Given the description of an element on the screen output the (x, y) to click on. 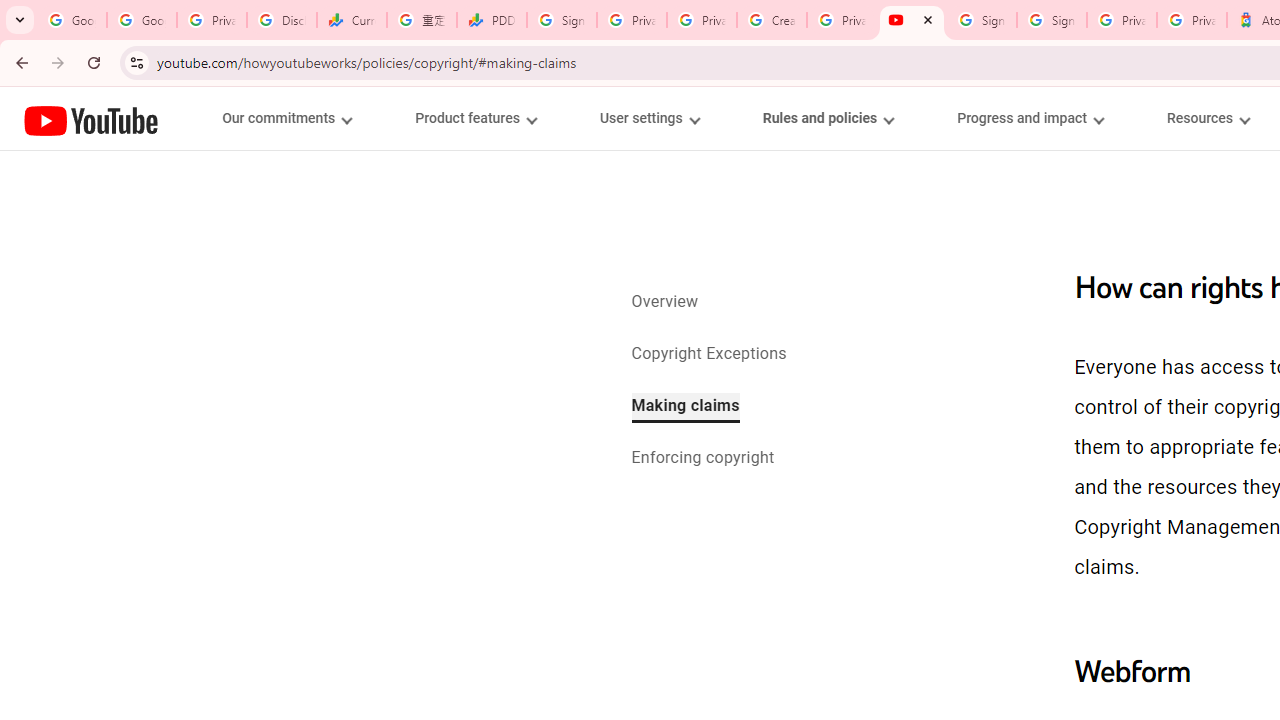
Privacy Checkup (701, 20)
Progress and impact menupopup (1030, 118)
Google Workspace Admin Community (72, 20)
Copyright Exceptions (709, 354)
Create your Google Account (772, 20)
Currencies - Google Finance (351, 20)
Our commitments menupopup (286, 118)
Product features menupopup (475, 118)
How YouTube Works (91, 118)
